Given the description of an element on the screen output the (x, y) to click on. 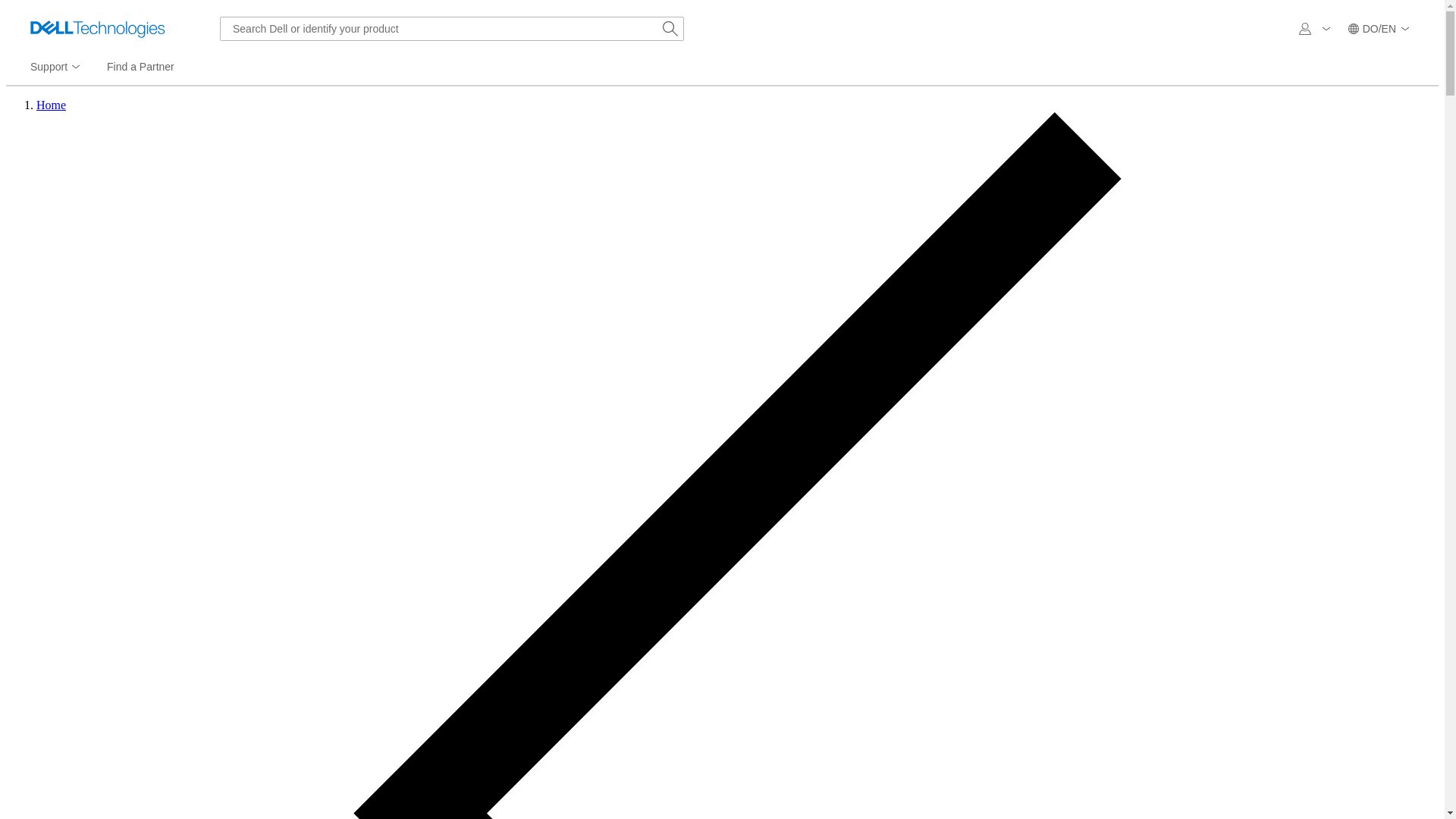
Support (55, 67)
Home (50, 104)
Find a Partner (140, 67)
